Given the description of an element on the screen output the (x, y) to click on. 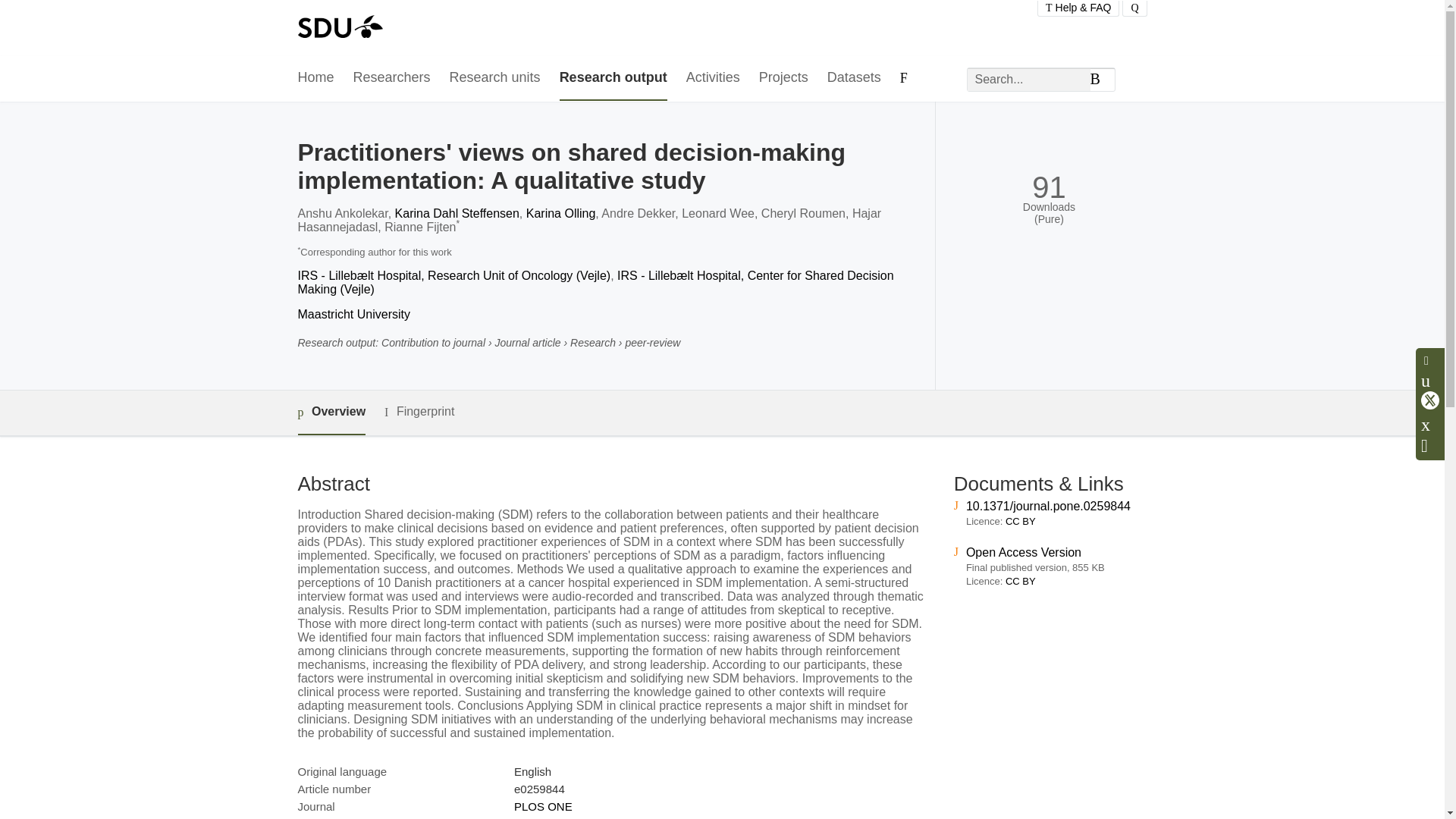
Open Access Version (1023, 552)
Fingerprint (419, 412)
Maastricht University (353, 314)
Research units (494, 78)
University of Southern Denmark Home (339, 27)
CC BY (1020, 581)
PLOS ONE (542, 806)
Research output (612, 78)
Overview (331, 412)
Home (315, 78)
Projects (783, 78)
Karina Olling (560, 213)
CC BY (1020, 521)
Datasets (853, 78)
